Given the description of an element on the screen output the (x, y) to click on. 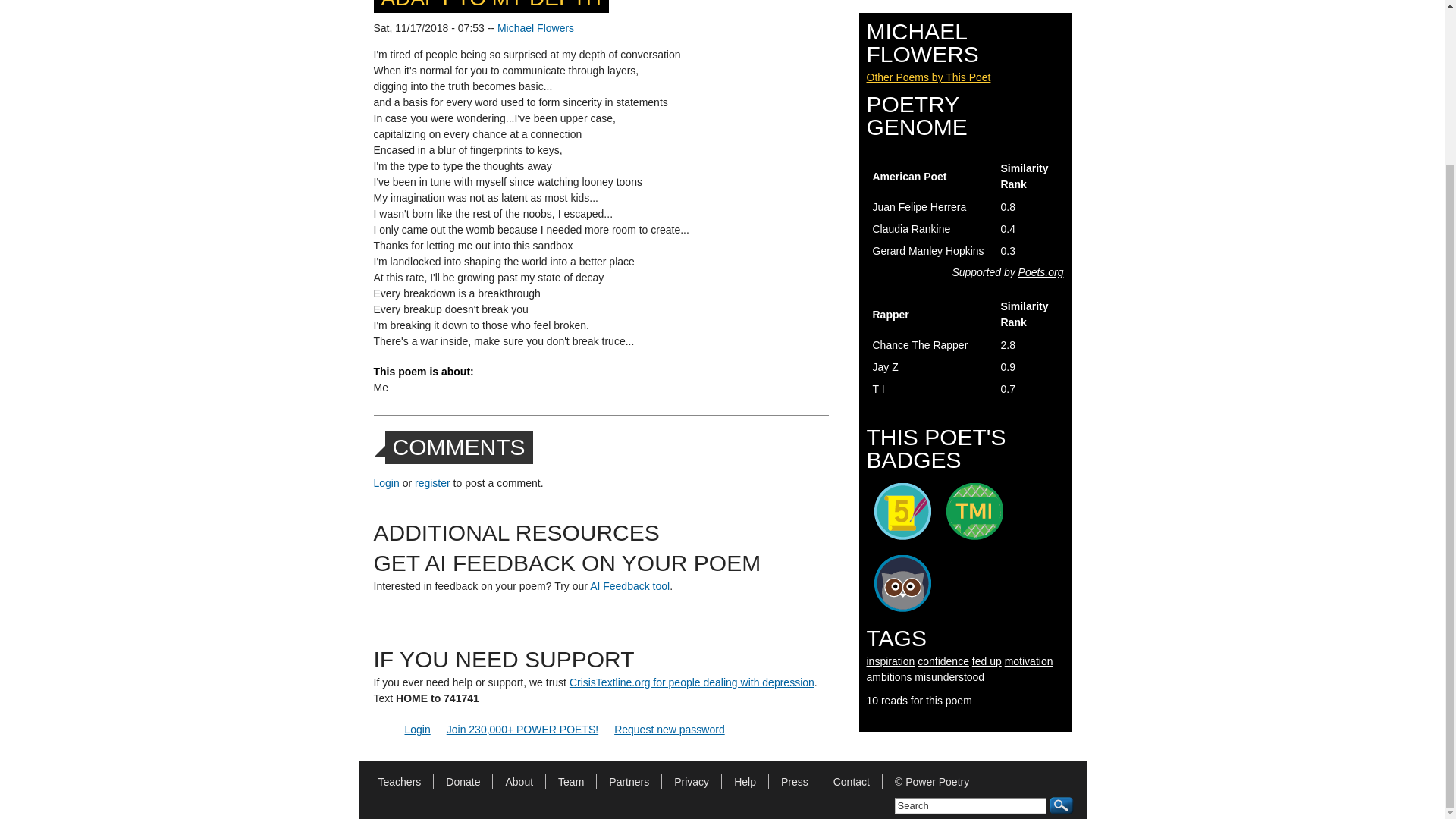
Search (970, 805)
Michael Flowers (535, 28)
